Given the description of an element on the screen output the (x, y) to click on. 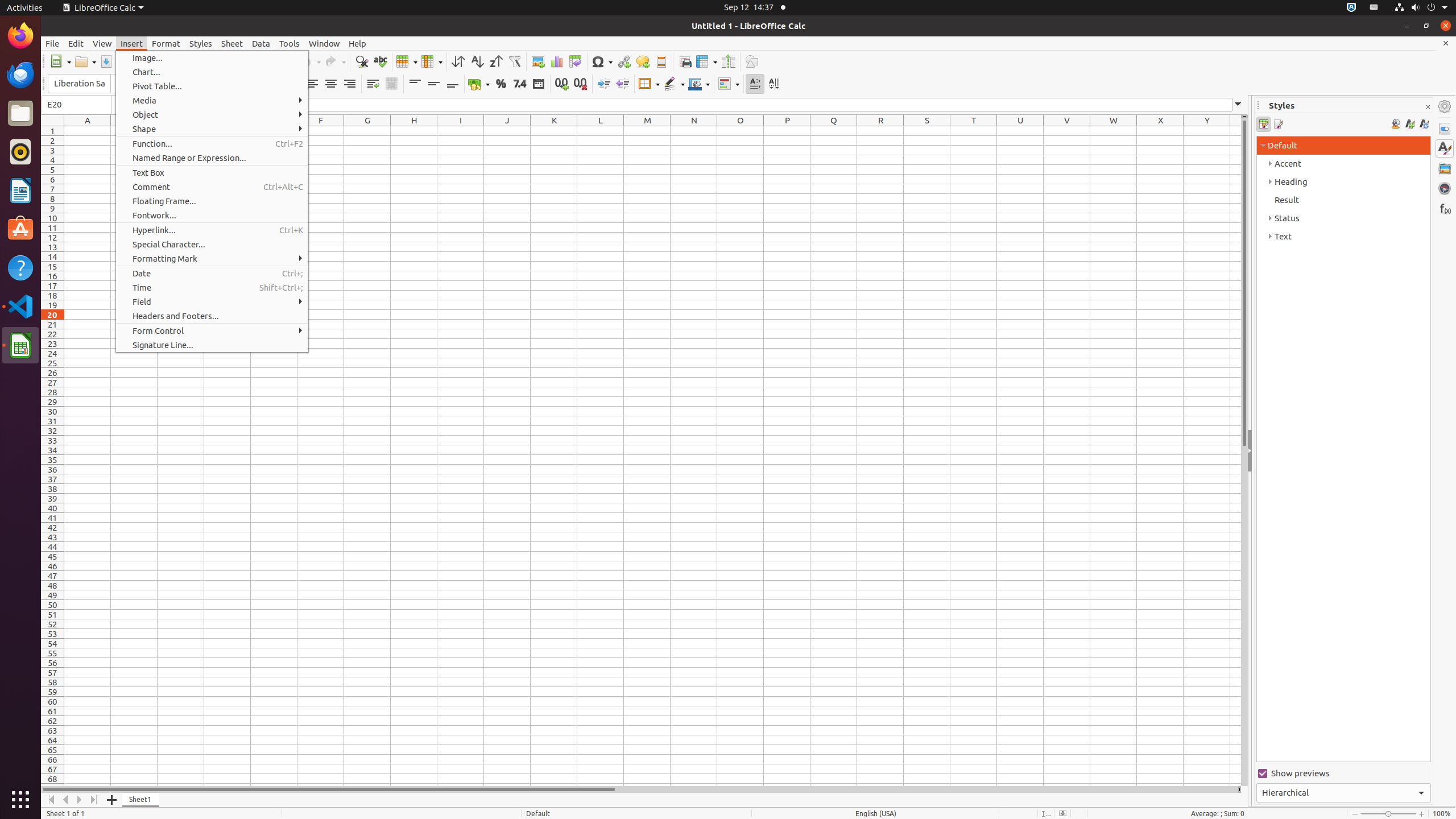
Edit Element type: menu (75, 43)
LibreOffice Writer Element type: push-button (20, 190)
Sheet Element type: menu (231, 43)
Rhythmbox Element type: push-button (20, 151)
Special Character... Element type: menu-item (212, 244)
